Given the description of an element on the screen output the (x, y) to click on. 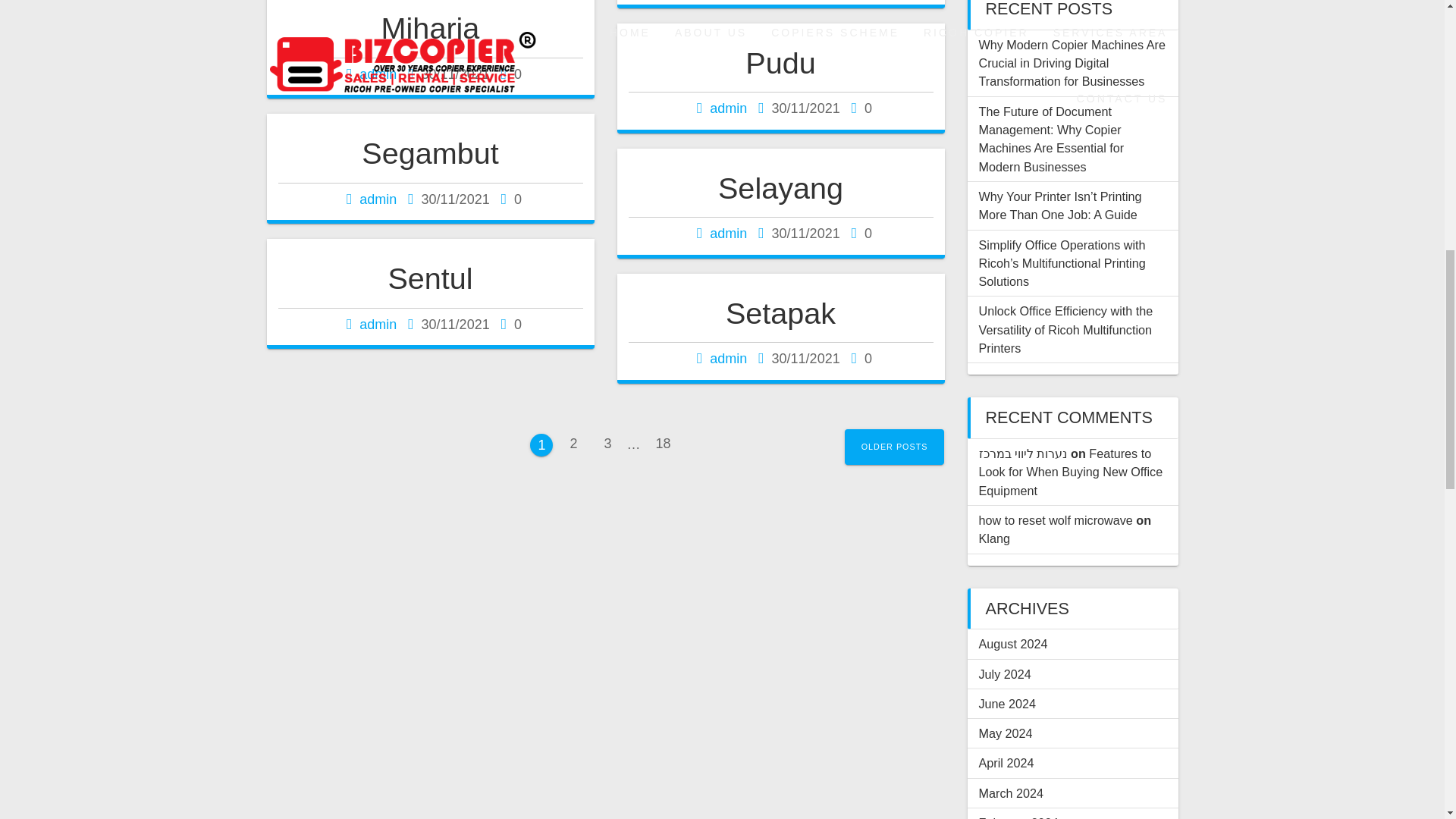
Posts by admin (728, 108)
Posts by admin (728, 358)
Posts by admin (377, 73)
Posts by admin (377, 324)
Posts by admin (728, 233)
Posts by admin (377, 199)
